Given the description of an element on the screen output the (x, y) to click on. 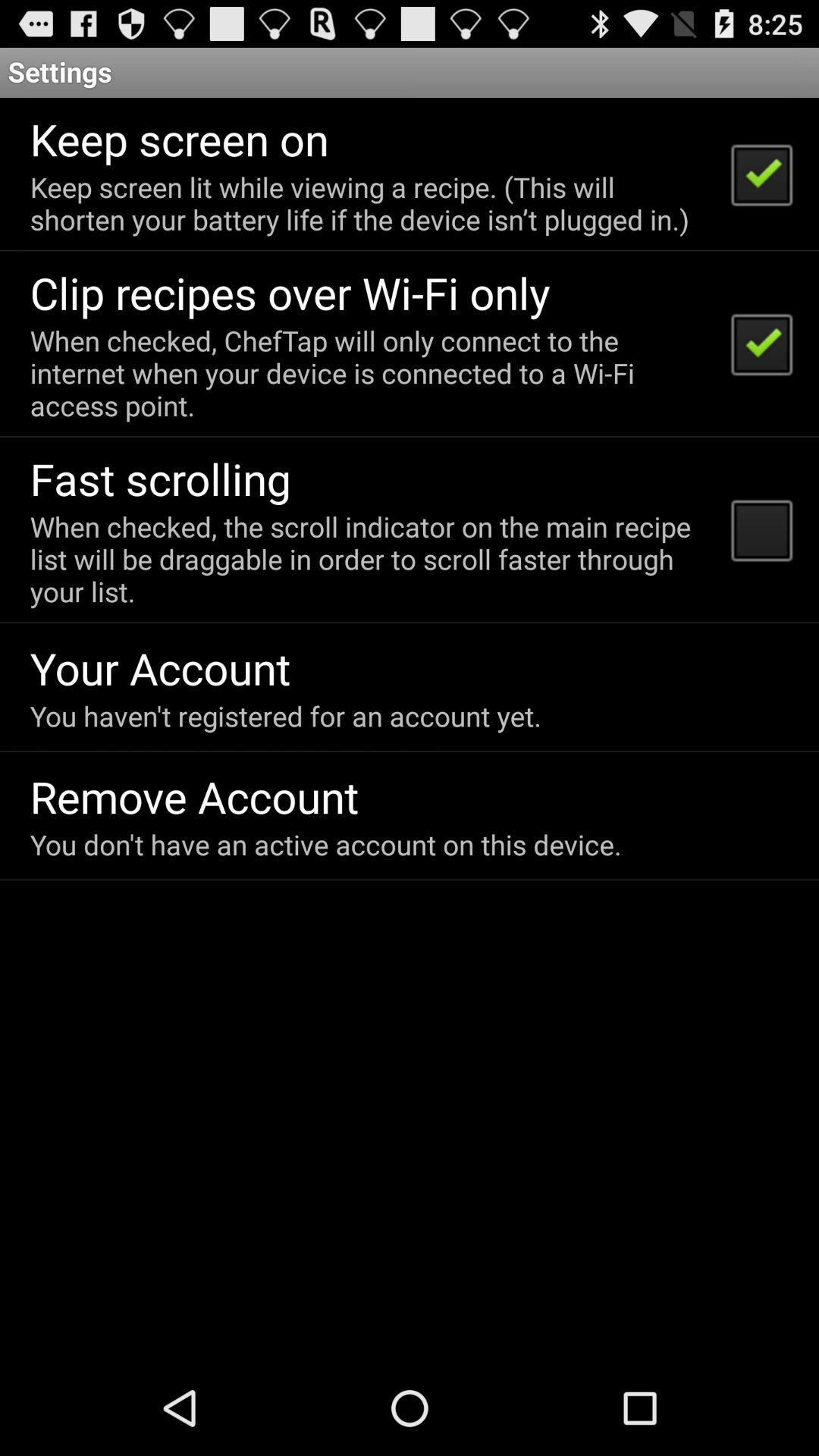
press the icon below keep screen lit icon (289, 292)
